Given the description of an element on the screen output the (x, y) to click on. 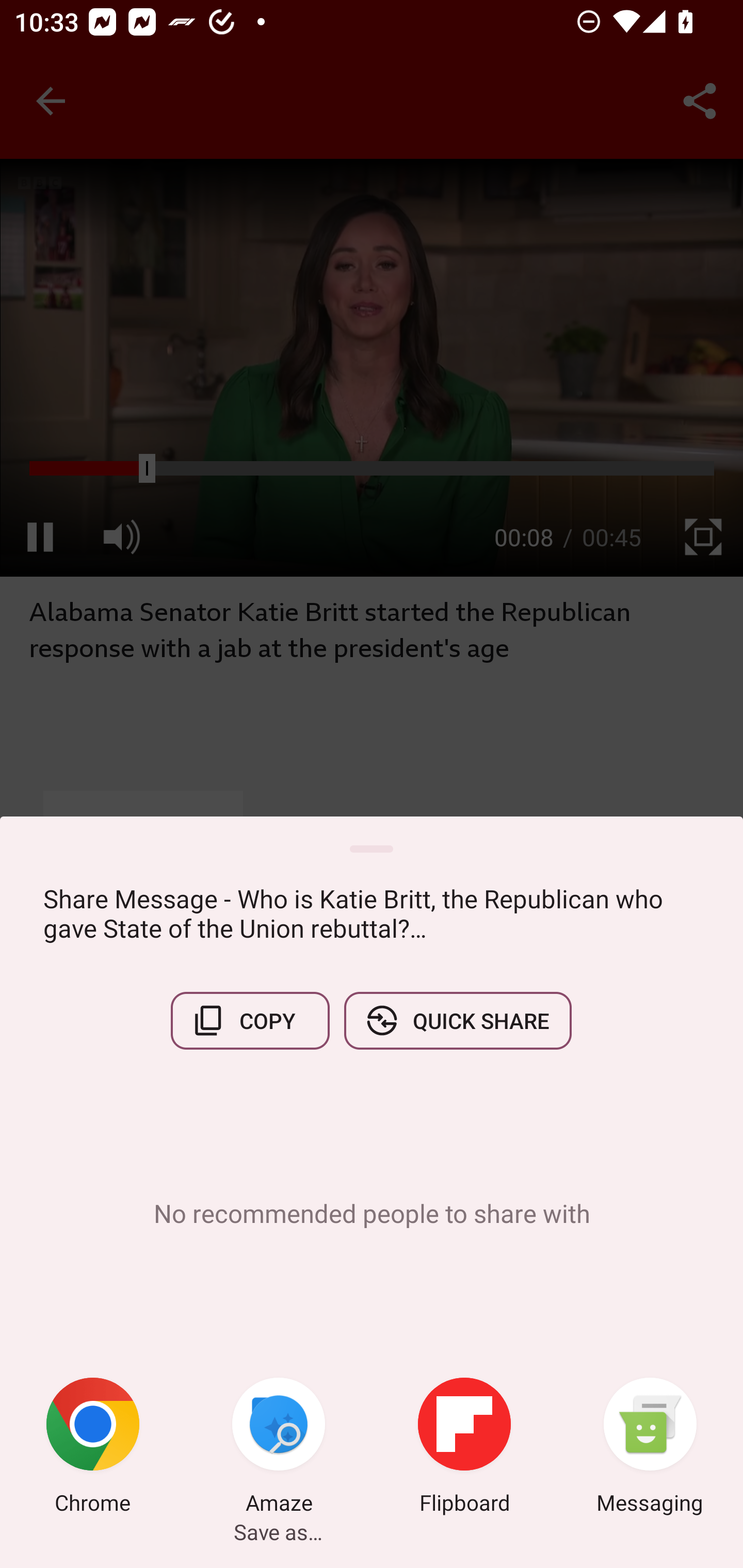
COPY (249, 1020)
QUICK SHARE (457, 1020)
Chrome (92, 1448)
Amaze Save as… (278, 1448)
Flipboard (464, 1448)
Messaging (650, 1448)
